Given the description of an element on the screen output the (x, y) to click on. 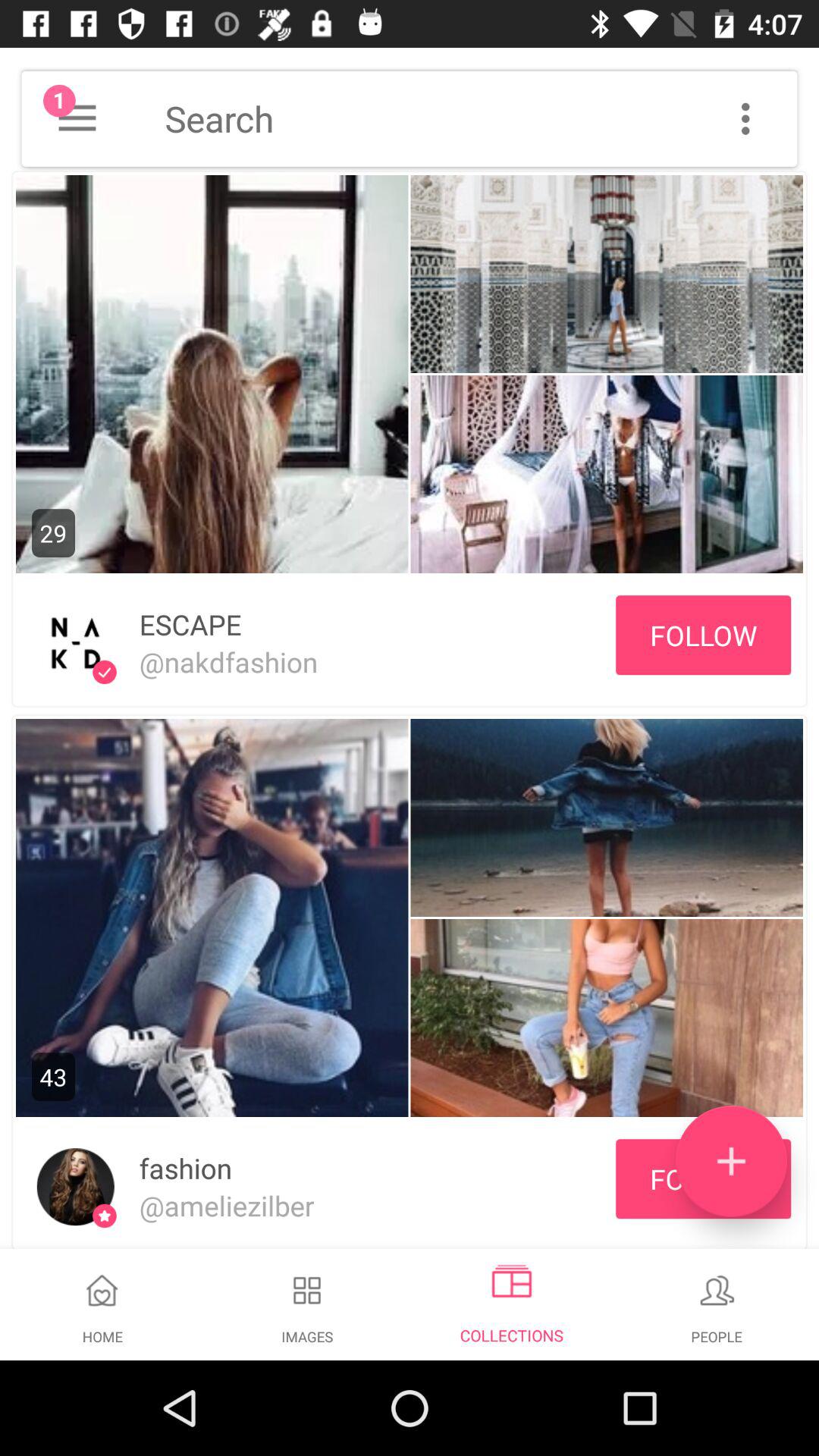
plus icon (731, 1161)
